Given the description of an element on the screen output the (x, y) to click on. 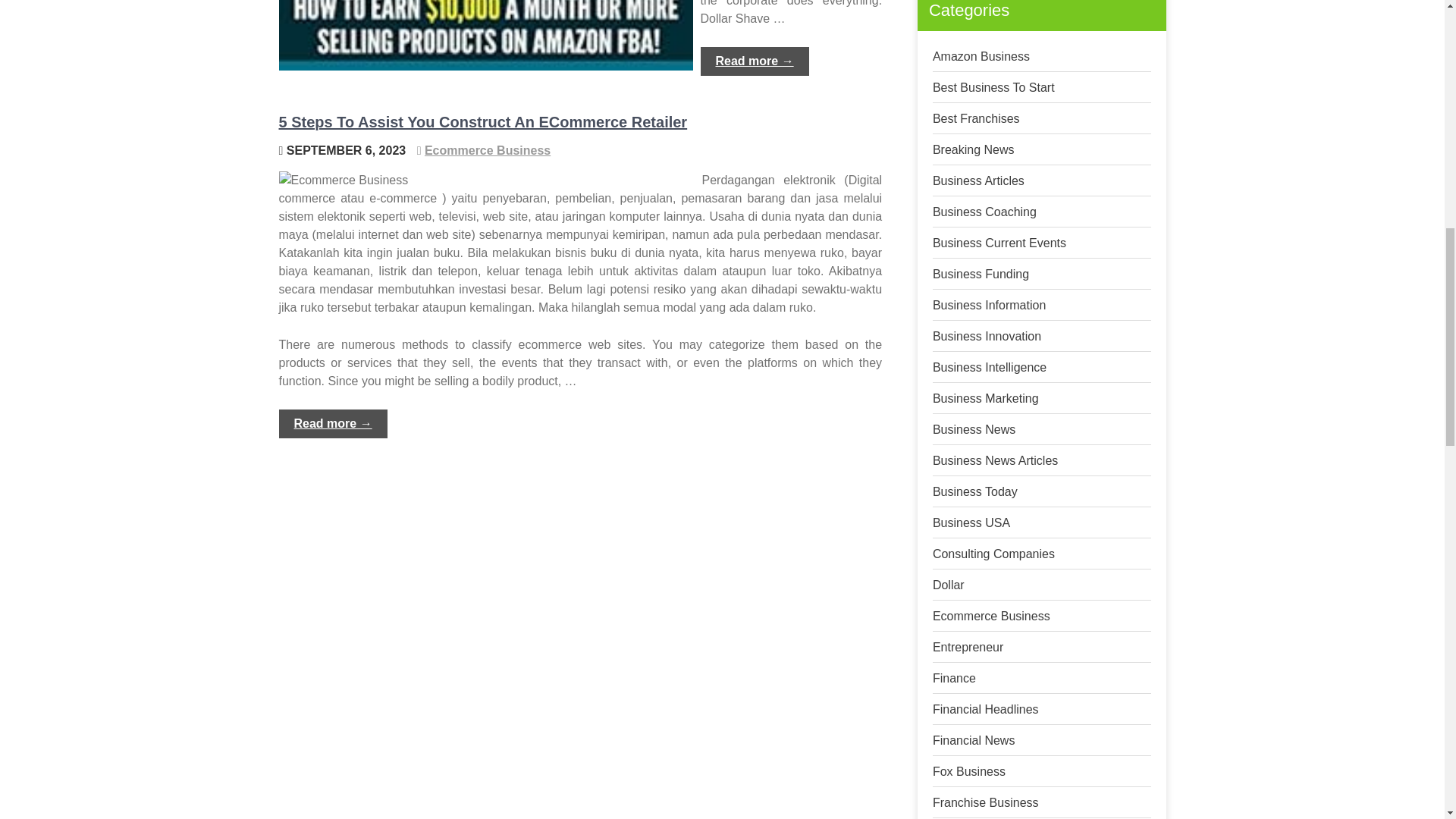
Best Business To Start (993, 87)
Best Franchises (976, 118)
Amazon Business (981, 56)
Ecommerce Business (487, 150)
5 Steps To Assist You Construct An ECommerce Retailer (483, 121)
